Given the description of an element on the screen output the (x, y) to click on. 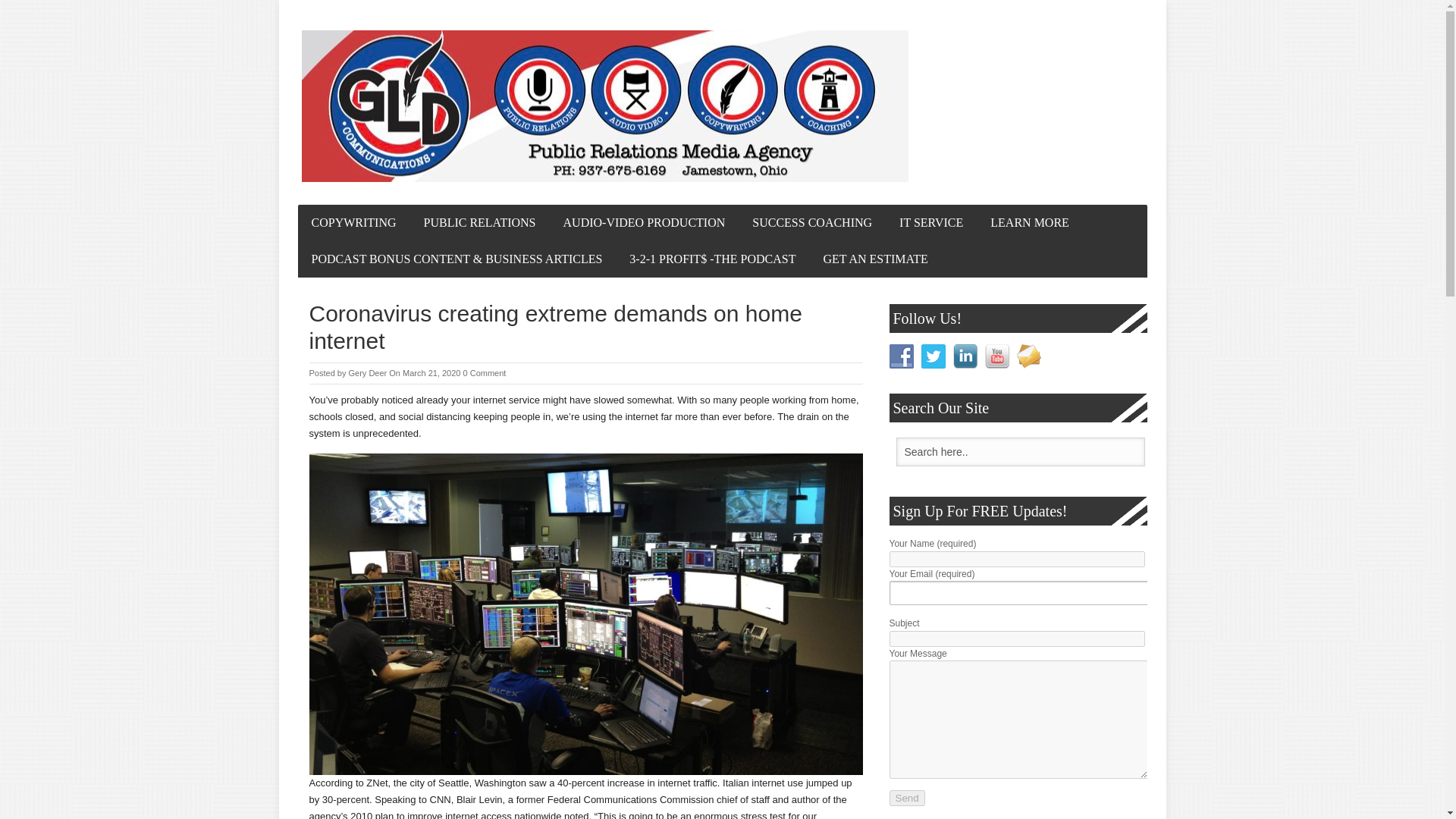
PUBLIC RELATIONS (478, 222)
0 Comment (484, 372)
 Twitter (932, 355)
 Facebook (900, 355)
 LinkedIn (964, 355)
Search here.. (1020, 451)
SUCCESS COACHING (811, 222)
COPYWRITING (353, 222)
 E-mail (1028, 355)
IT SERVICE (930, 222)
Gery Deer (367, 372)
GET AN ESTIMATE (874, 258)
Send (906, 797)
LEARN MORE (1029, 222)
 YouTube (996, 355)
